Given the description of an element on the screen output the (x, y) to click on. 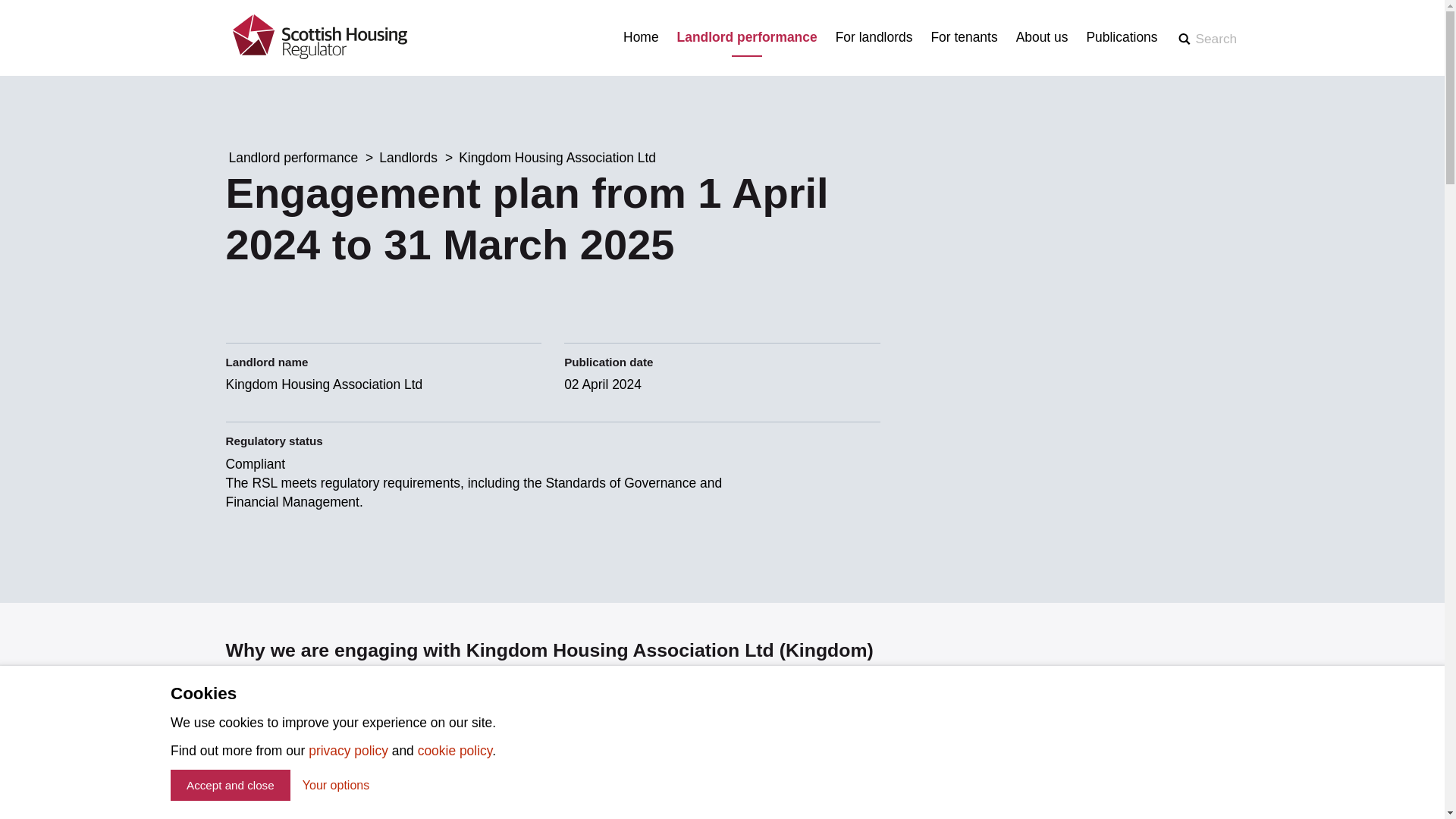
Scottish Housing Regulator logo (318, 38)
Search (1206, 38)
About us (1042, 36)
For tenants (963, 36)
Scottish Housing Regulator logo (318, 36)
Landlord performance (746, 36)
privacy policy (348, 750)
Accept and close (229, 784)
For landlords (873, 36)
Publications (1121, 36)
Your options (335, 784)
cookie policy (455, 750)
Home (641, 36)
